Given the description of an element on the screen output the (x, y) to click on. 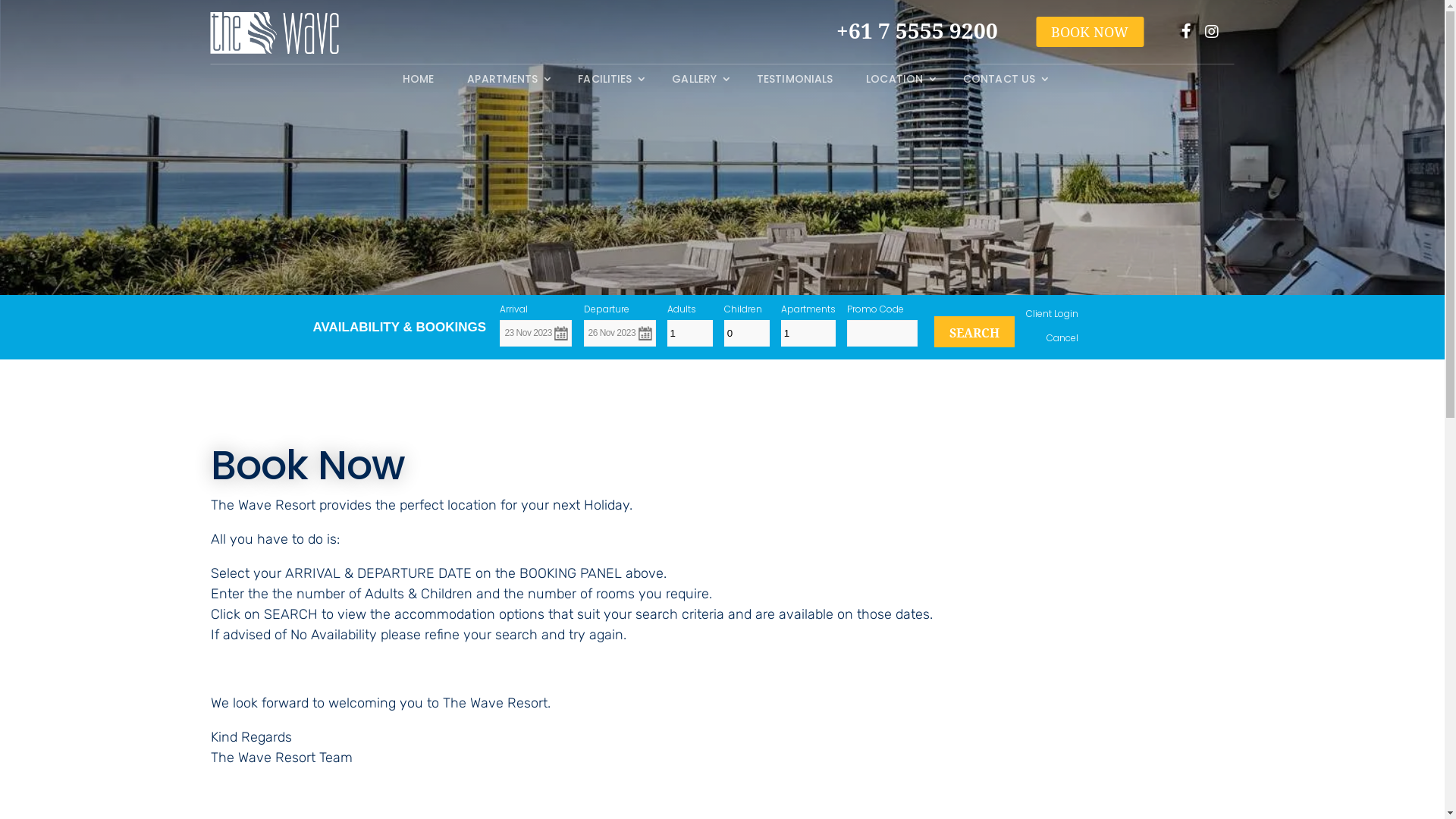
APARTMENTS Element type: text (505, 81)
LOGO-Wh-500w Element type: hover (274, 32)
TESTIMONIALS Element type: text (794, 81)
LOCATION Element type: text (897, 81)
GALLERY Element type: text (697, 81)
Client Login Element type: text (1052, 313)
BOOK NOW Element type: text (1089, 31)
Cancel Element type: text (1062, 337)
+61 7 5555 9200 Element type: text (1101, 30)
FACILITIES Element type: text (607, 81)
SEARCH Element type: text (974, 331)
HOME Element type: text (418, 81)
CONTACT US Element type: text (1002, 81)
